Given the description of an element on the screen output the (x, y) to click on. 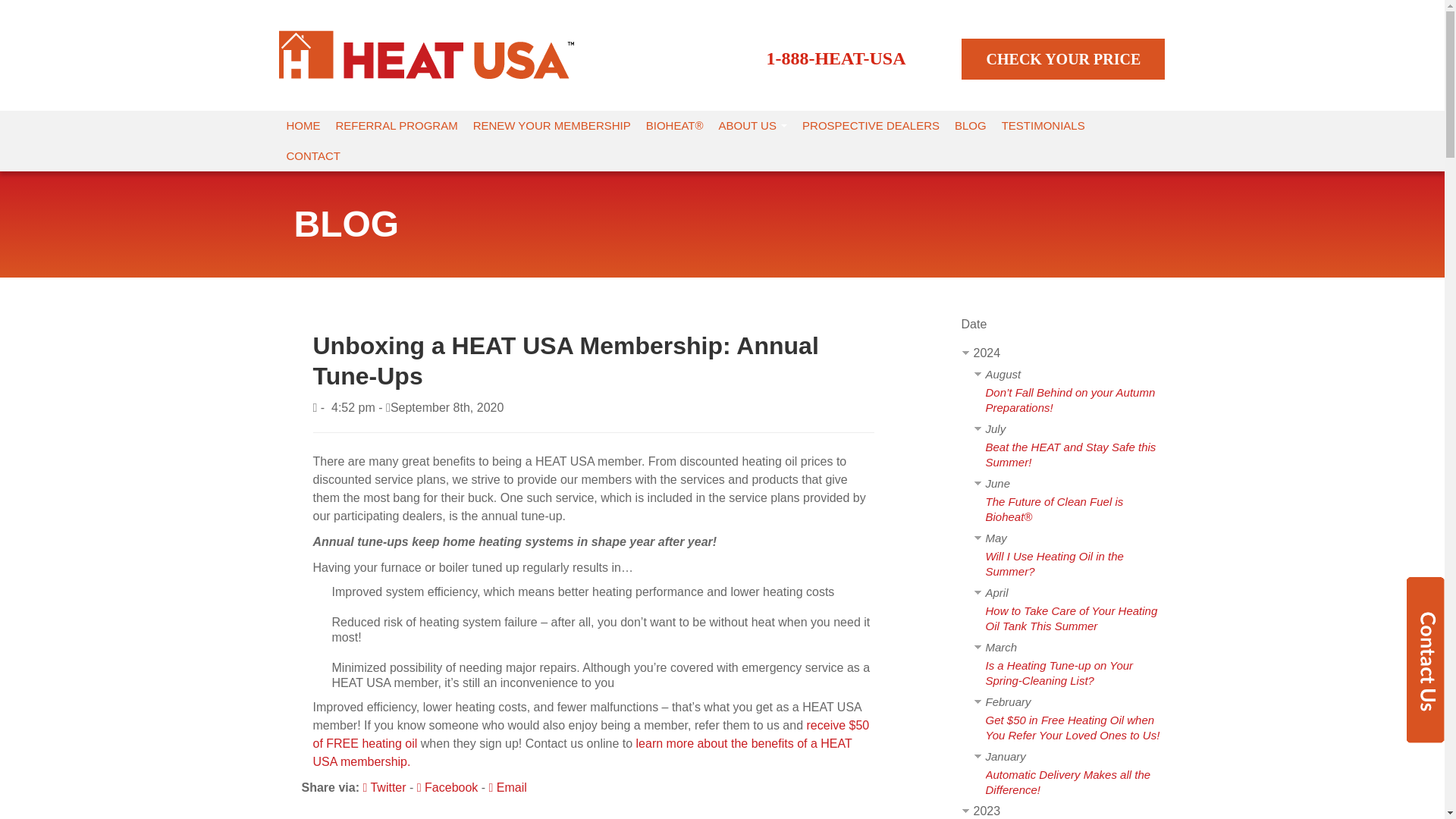
Beat the HEAT and Stay Safe this Summer! (1070, 454)
CHECK YOUR PRICE (1063, 58)
Will I Use Heating Oil in the Summer? (1054, 563)
CONTACT (313, 155)
HOME (304, 125)
TESTIMONIALS (1043, 125)
Twitter (384, 787)
learn more about the benefits of a HEAT USA membership. (582, 752)
Email (508, 787)
ABOUT US (752, 125)
